Given the description of an element on the screen output the (x, y) to click on. 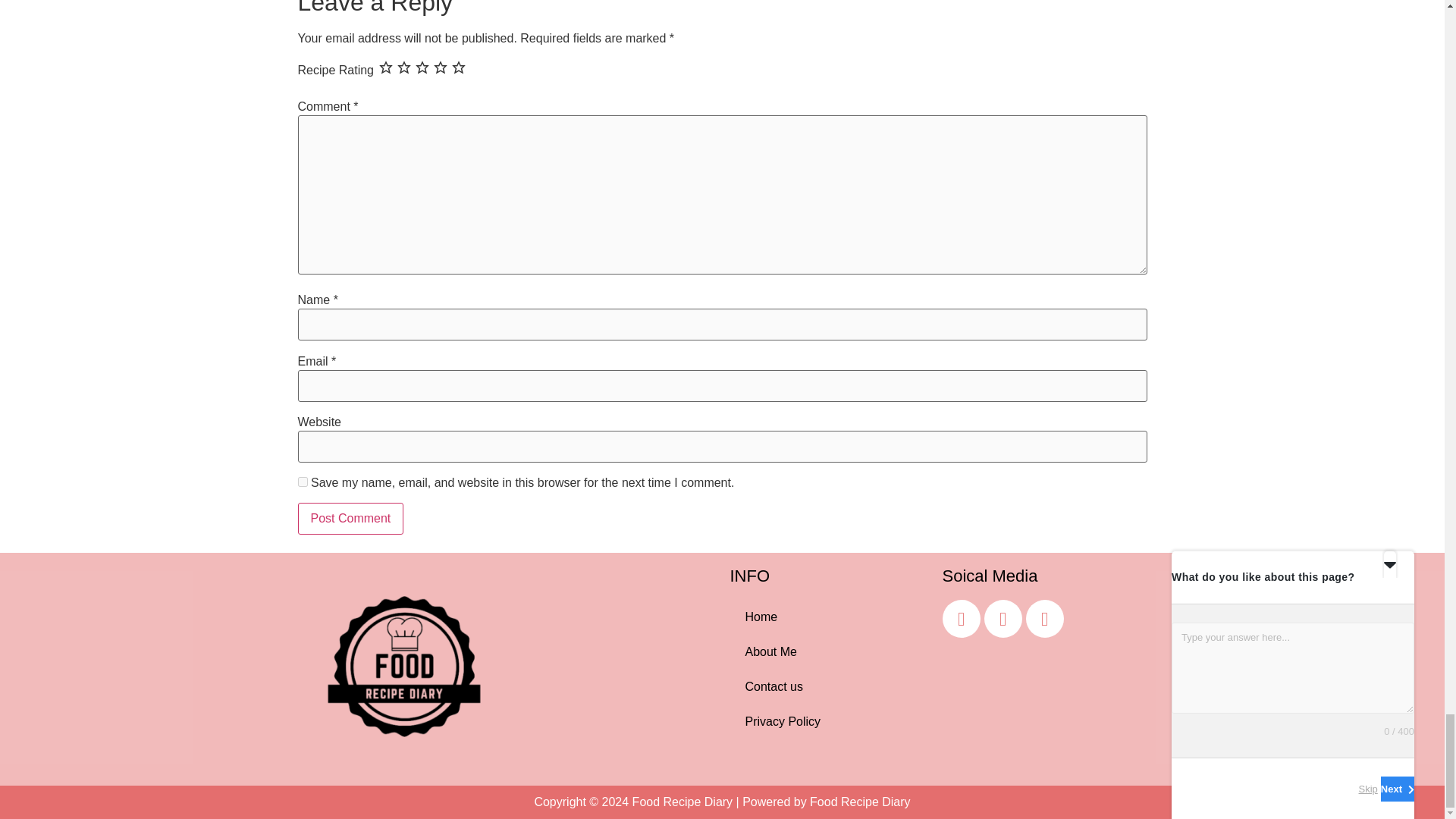
Post Comment (350, 518)
yes (302, 481)
